Given the description of an element on the screen output the (x, y) to click on. 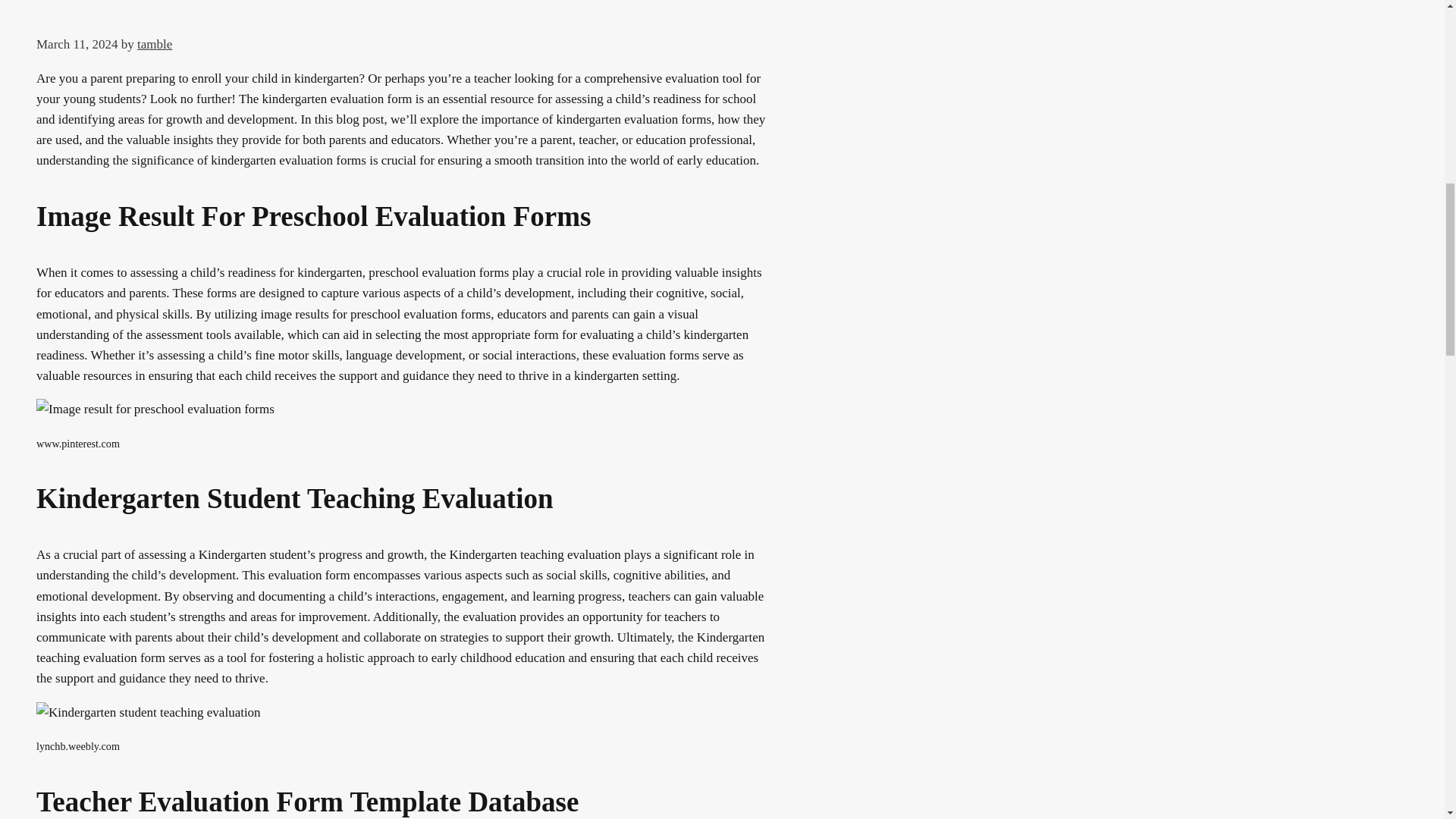
View all posts by tamble (153, 43)
Scroll back to top (1406, 720)
tamble (153, 43)
